Given the description of an element on the screen output the (x, y) to click on. 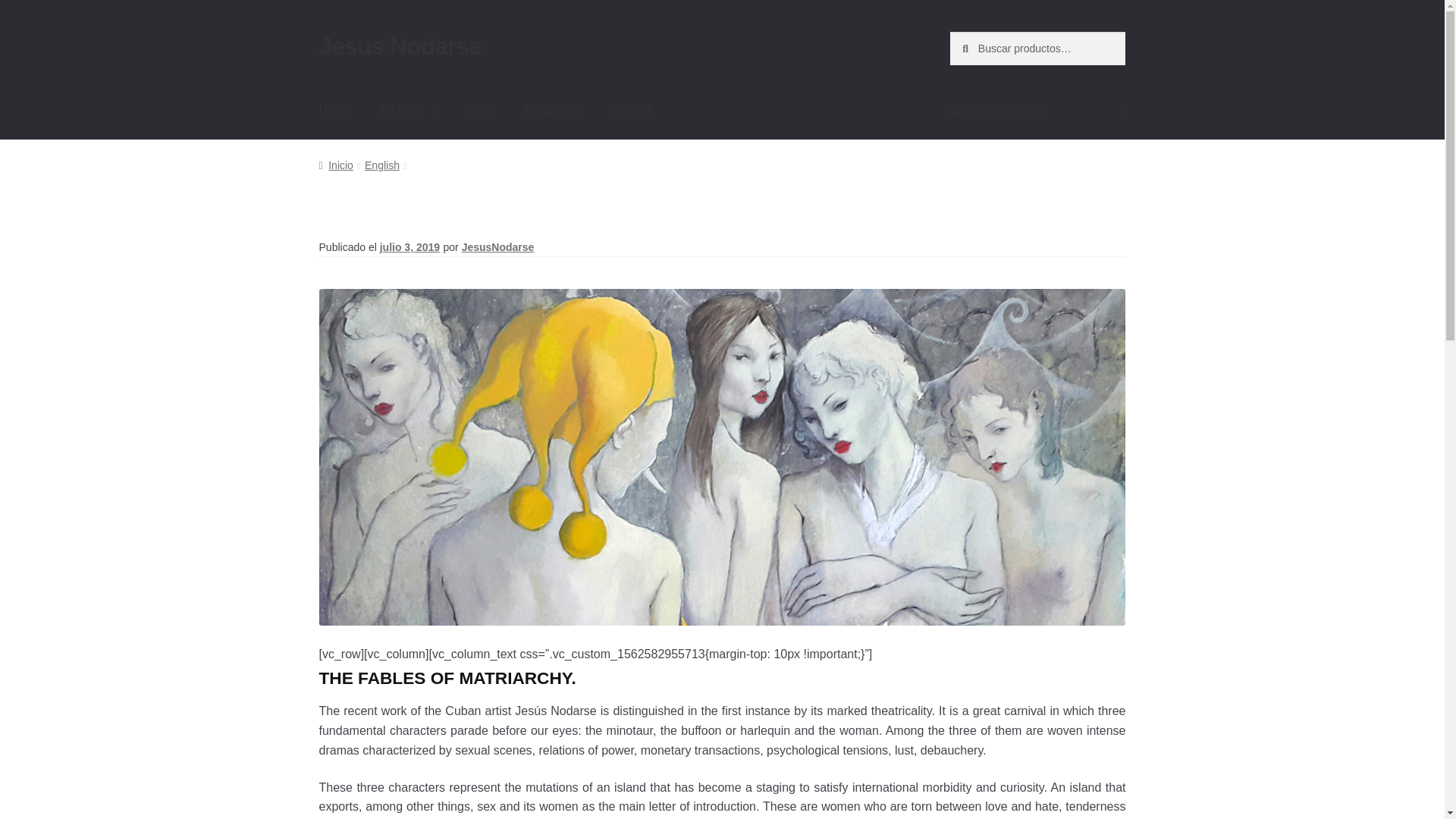
Ver tu carrito de compra (1037, 109)
Contact (629, 109)
julio 3, 2019 (409, 246)
Press (478, 109)
English (381, 164)
Exhibitions (552, 109)
Inicio (335, 164)
JesusNodarse (497, 246)
Artwork (407, 109)
Jesus Nodarse (399, 45)
Home (335, 109)
